Given the description of an element on the screen output the (x, y) to click on. 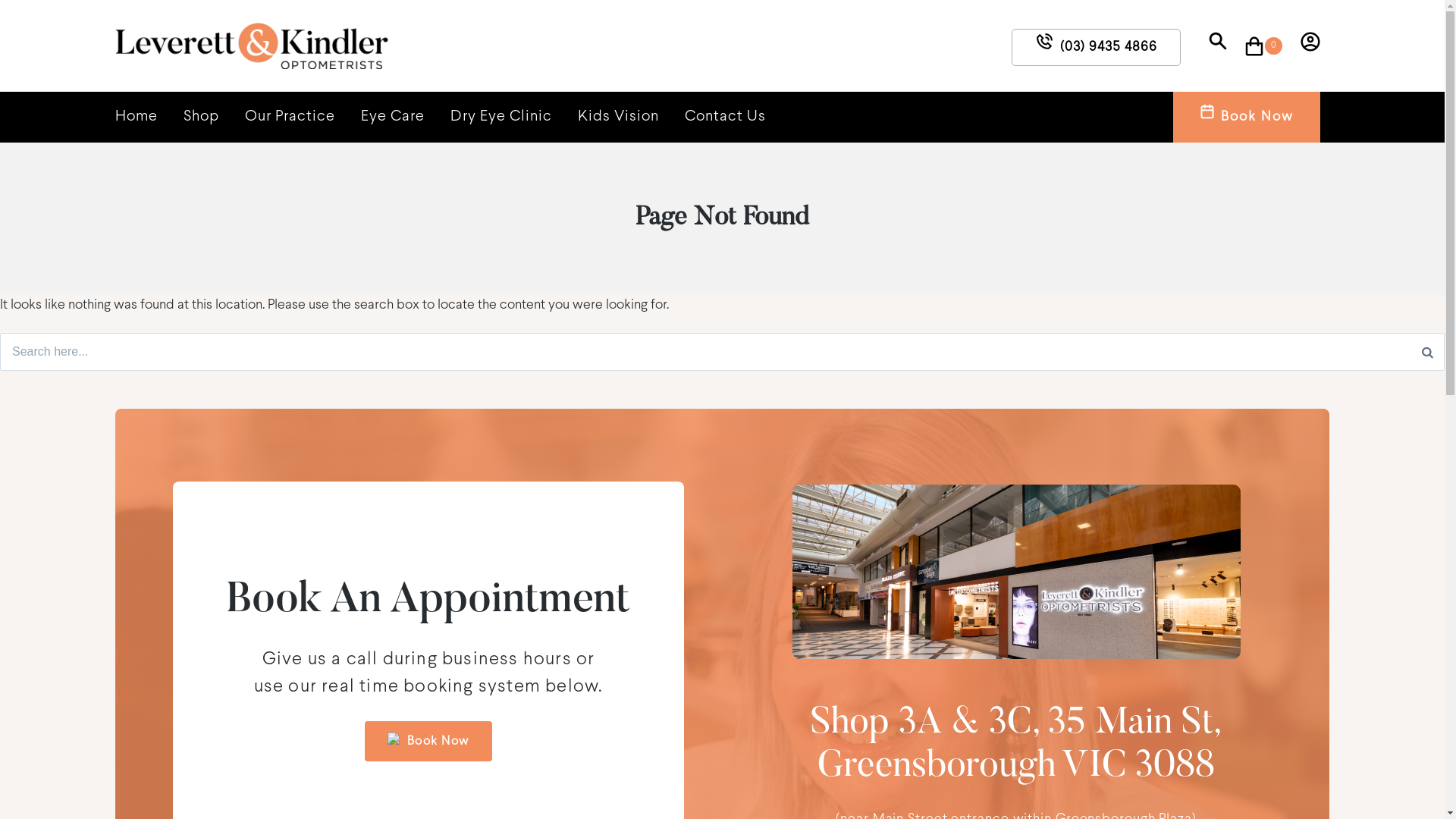
Home Element type: text (136, 116)
Leverett & Kindler Optometrists Element type: text (249, 86)
0 Element type: text (1263, 45)
Dry Eye Clinic Element type: text (501, 116)
Our Practice Element type: text (289, 116)
Book Now Element type: text (428, 741)
Kids Vision Element type: text (617, 116)
Book Now Element type: text (1246, 116)
Eye Care Element type: text (392, 116)
Contact Us Element type: text (724, 116)
Shop Element type: text (201, 116)
(03) 9435 4866 Element type: text (1095, 46)
